Given the description of an element on the screen output the (x, y) to click on. 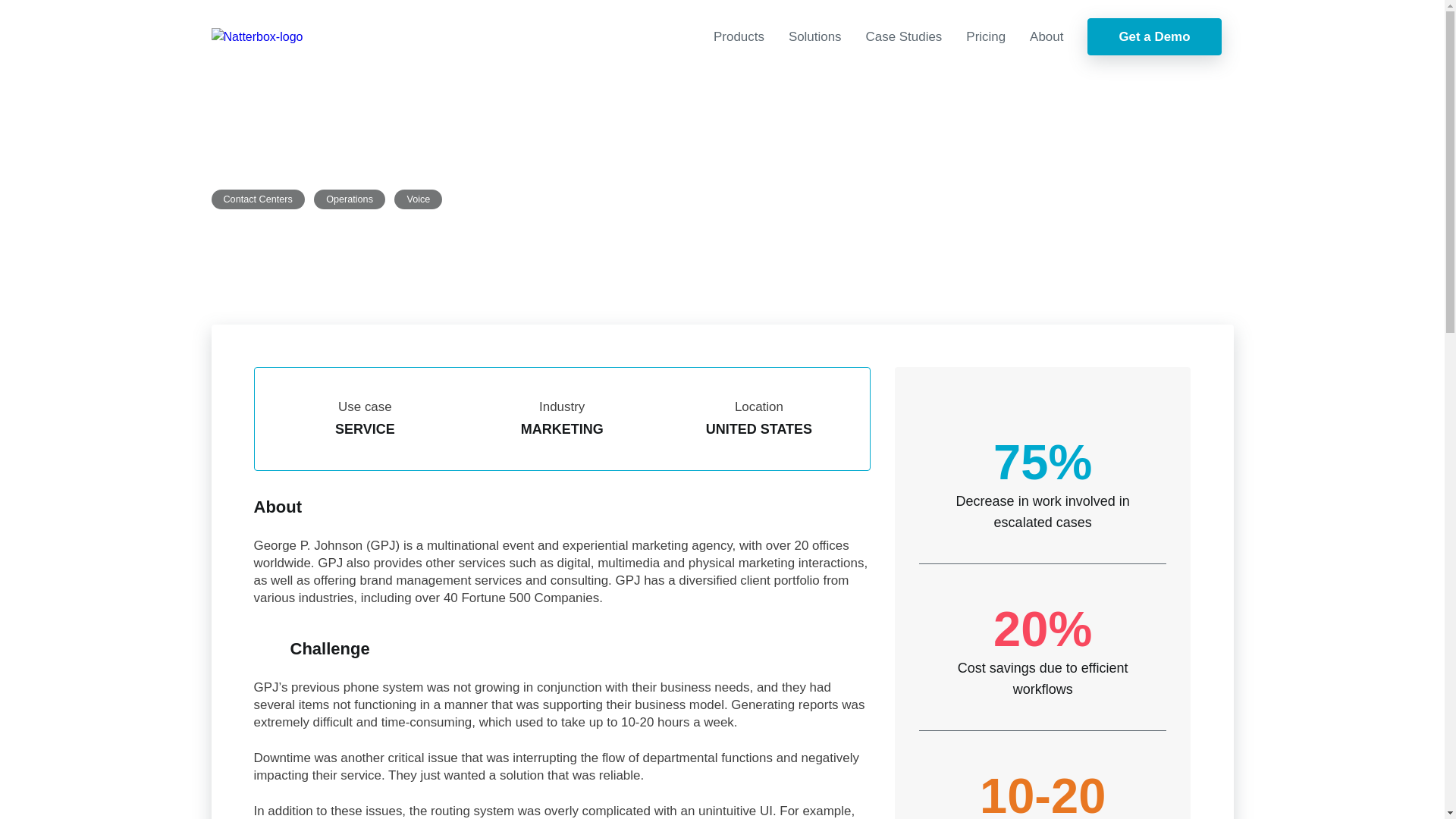
Solutions (815, 36)
About (1045, 36)
Pricing (986, 36)
Get a Demo (1154, 36)
Case Studies (904, 36)
Products (738, 36)
